Given the description of an element on the screen output the (x, y) to click on. 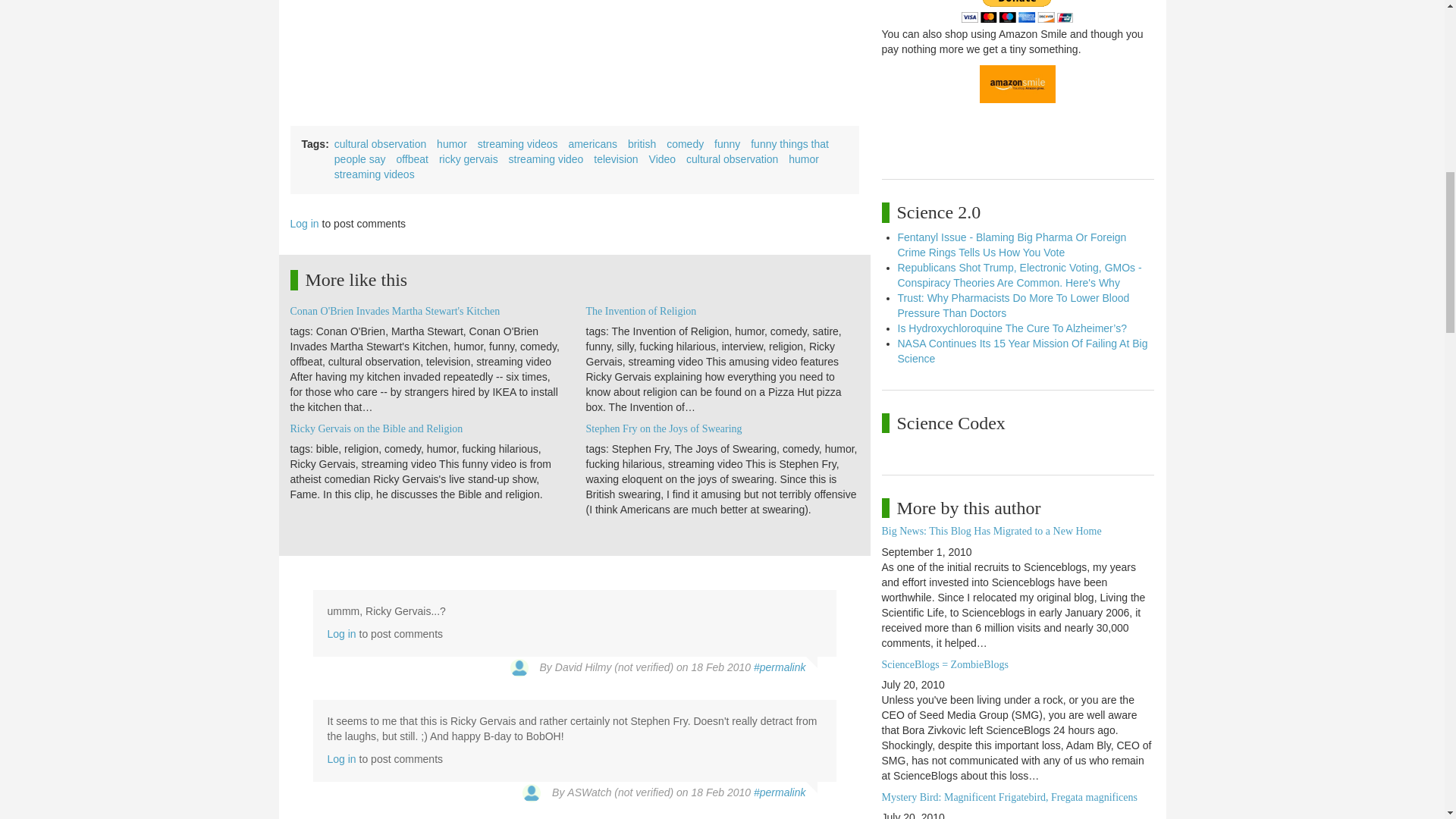
humor (451, 143)
cultural observation (380, 143)
british (641, 143)
americans (592, 143)
streaming videos (517, 143)
PayPal - The safer, easier way to pay online! (1016, 11)
